Given the description of an element on the screen output the (x, y) to click on. 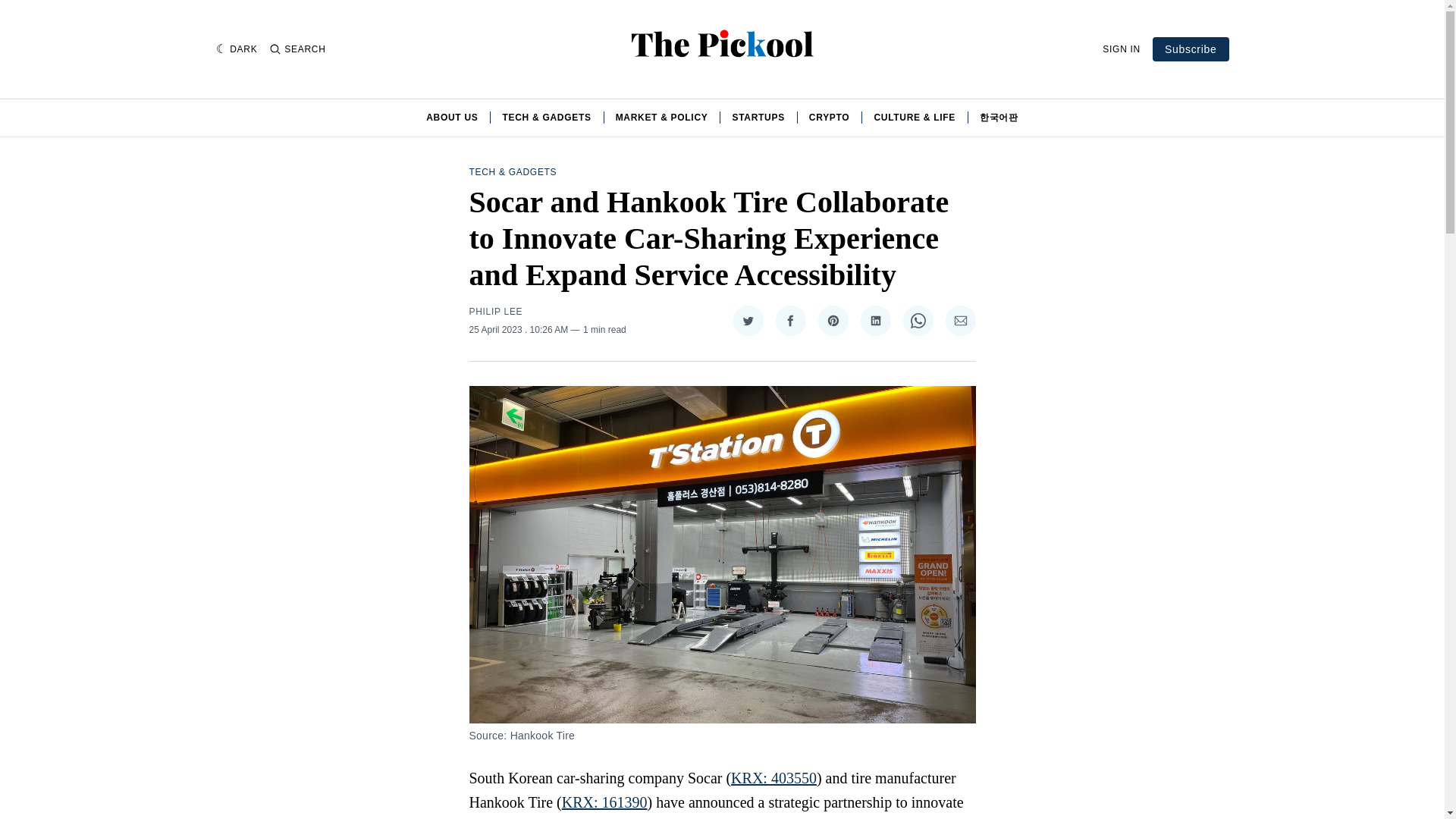
CRYPTO (829, 117)
Share on Pinterest (831, 320)
KRX: 403550 (773, 777)
ABOUT US (451, 117)
KRX: 161390 (604, 801)
SEARCH (296, 49)
Share via Email (959, 320)
PHILIP LEE (495, 311)
Share on WhatsApp (917, 320)
DARK (236, 48)
Share on LinkedIn (874, 320)
Share on Facebook (789, 320)
STARTUPS (758, 117)
SIGN IN (1121, 49)
Share on Twitter (747, 320)
